Given the description of an element on the screen output the (x, y) to click on. 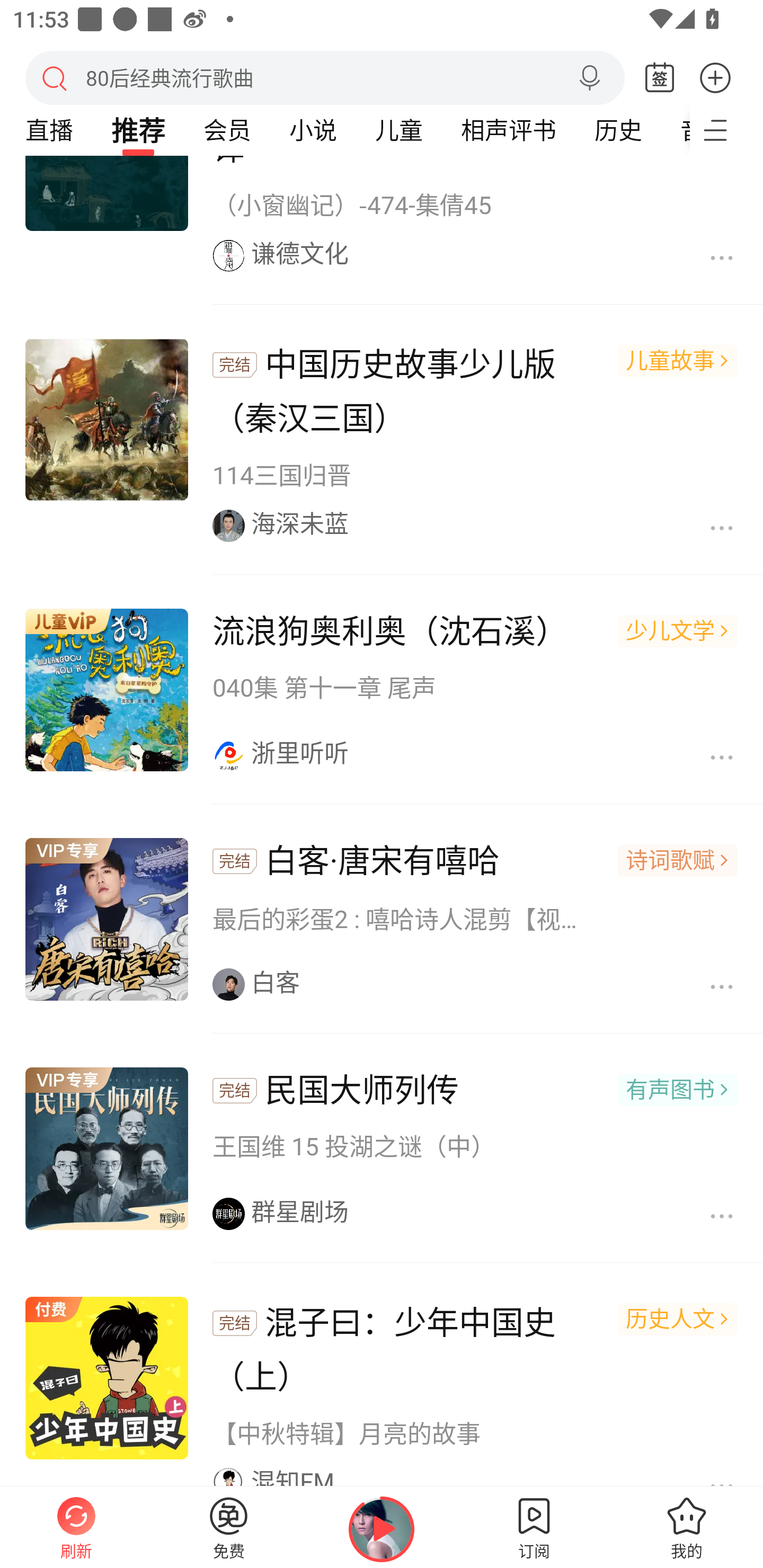
搜索 80后经典流行歌曲 语音搜索 (324, 77)
更多 (714, 77)
签到 (659, 78)
语音搜索 (589, 78)
直播 (49, 130)
推荐 (138, 130)
会员 (227, 130)
小说 (313, 130)
儿童 (398, 130)
相声评书 (508, 130)
历史 (618, 130)
更多频道 (726, 130)
完结 小窗幽记|全本全注全译 （小窗幽记）-474-集倩45 谦德文化 (381, 230)
完结 中国历史故事少儿版（秦汉三国） 儿童故事    114三国归晋 海深未蓝 (381, 441)
流浪狗奥利奥（沈石溪） 少儿文学    040集 第十一章 尾声 浙里听听 (381, 691)
完结 白客·唐宋有嘻哈 诗词歌赋    最后的彩蛋2 : 嘻哈诗人混剪【视频】 白客 (381, 919)
完结 民国大师列传 有声图书    王国维 15 投湖之谜（中） 群星剧场 (381, 1148)
完结 混子曰：少年中国史（上） 历史人文    【中秋特辑】月亮的故事 混知FM (381, 1377)
刷新 (76, 1526)
免费 (228, 1526)
订阅 (533, 1526)
我的 (686, 1526)
继续播放Alpha-橘子海OrangeOcean (381, 1529)
